Given the description of an element on the screen output the (x, y) to click on. 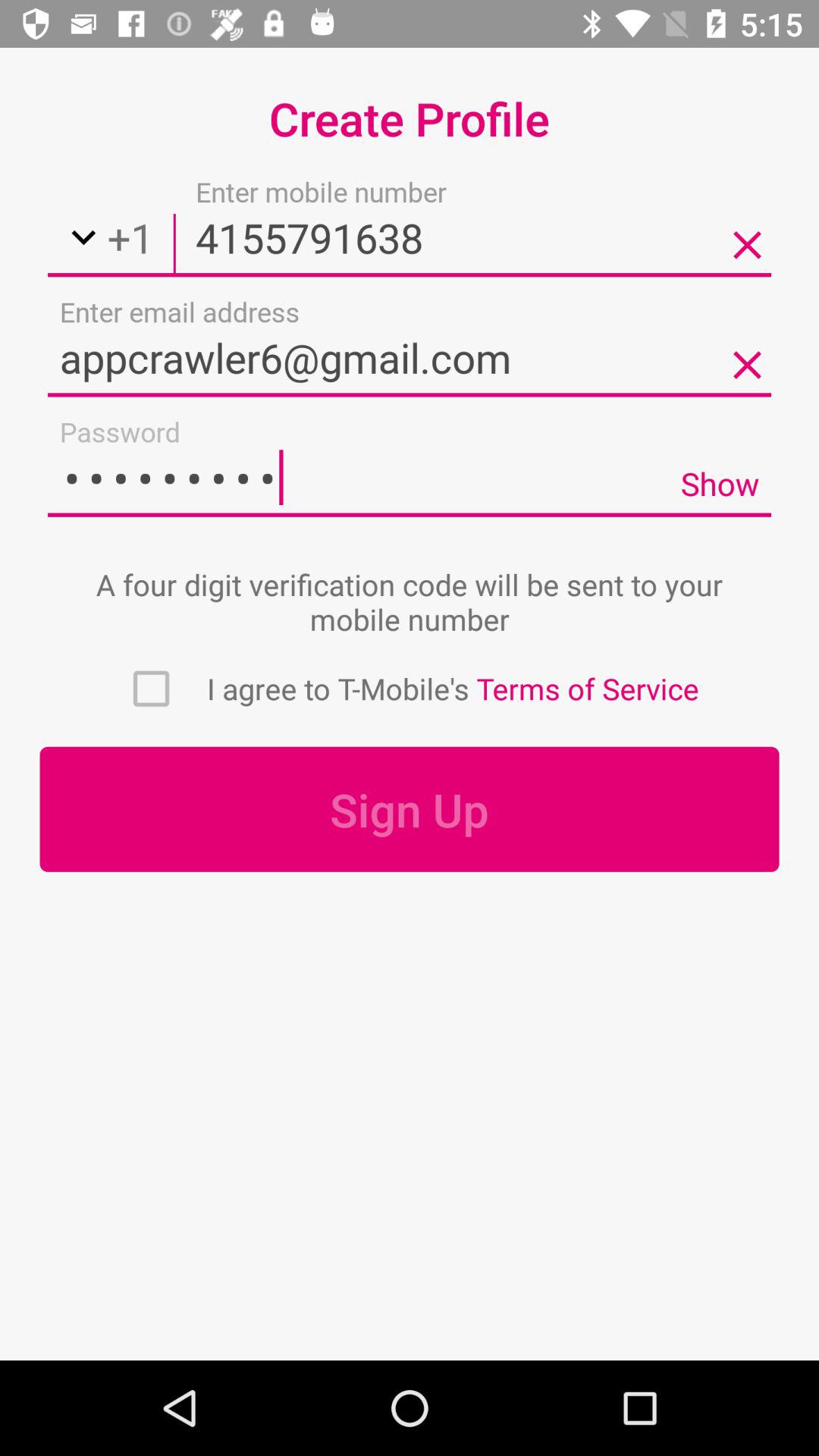
free dictionary (151, 688)
